Given the description of an element on the screen output the (x, y) to click on. 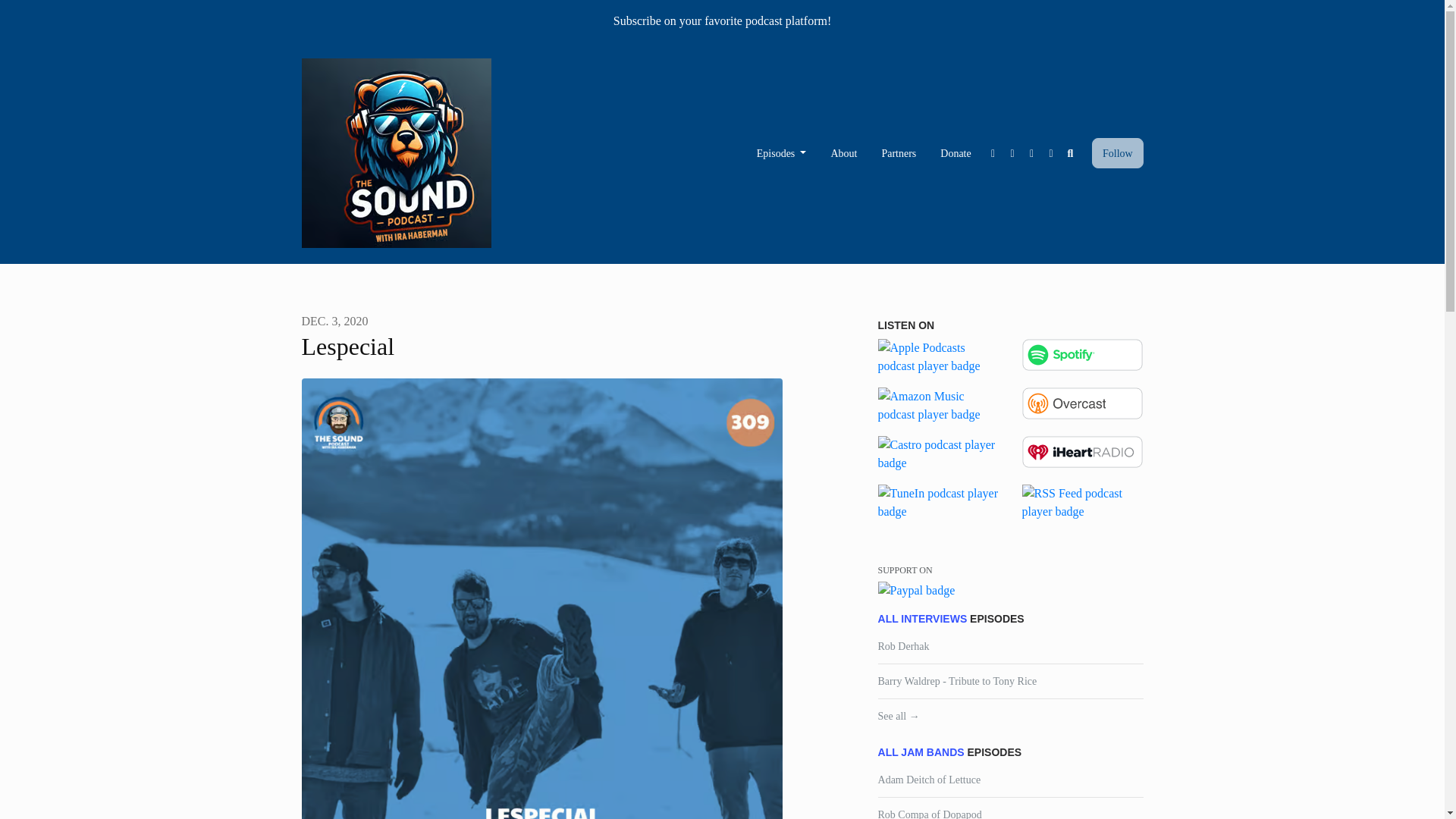
Donate (955, 153)
Partners (898, 153)
Episodes (781, 153)
The Sound Podcast (396, 153)
About (843, 153)
Follow (1117, 153)
